Given the description of an element on the screen output the (x, y) to click on. 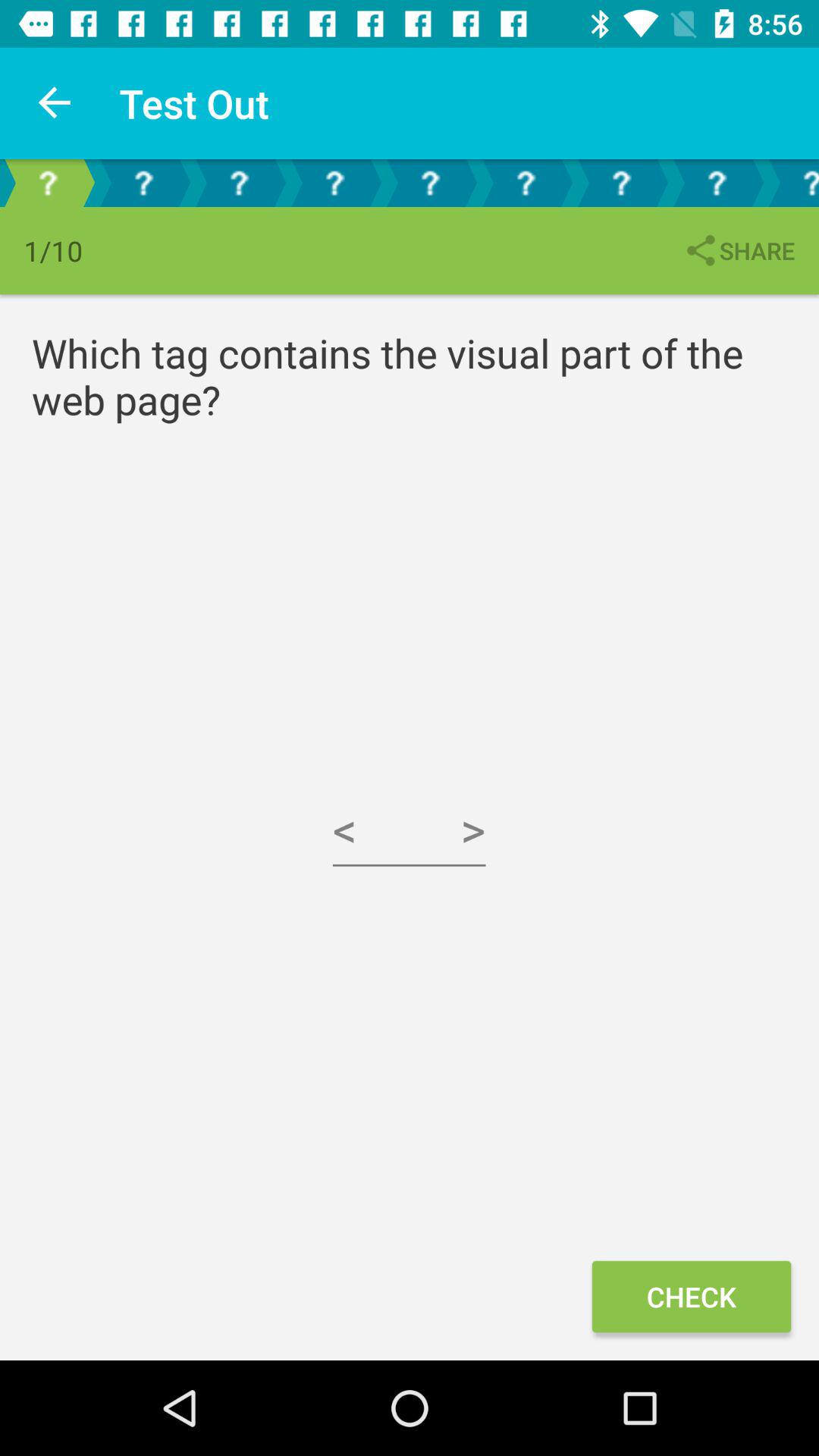
flip to the check (691, 1296)
